Given the description of an element on the screen output the (x, y) to click on. 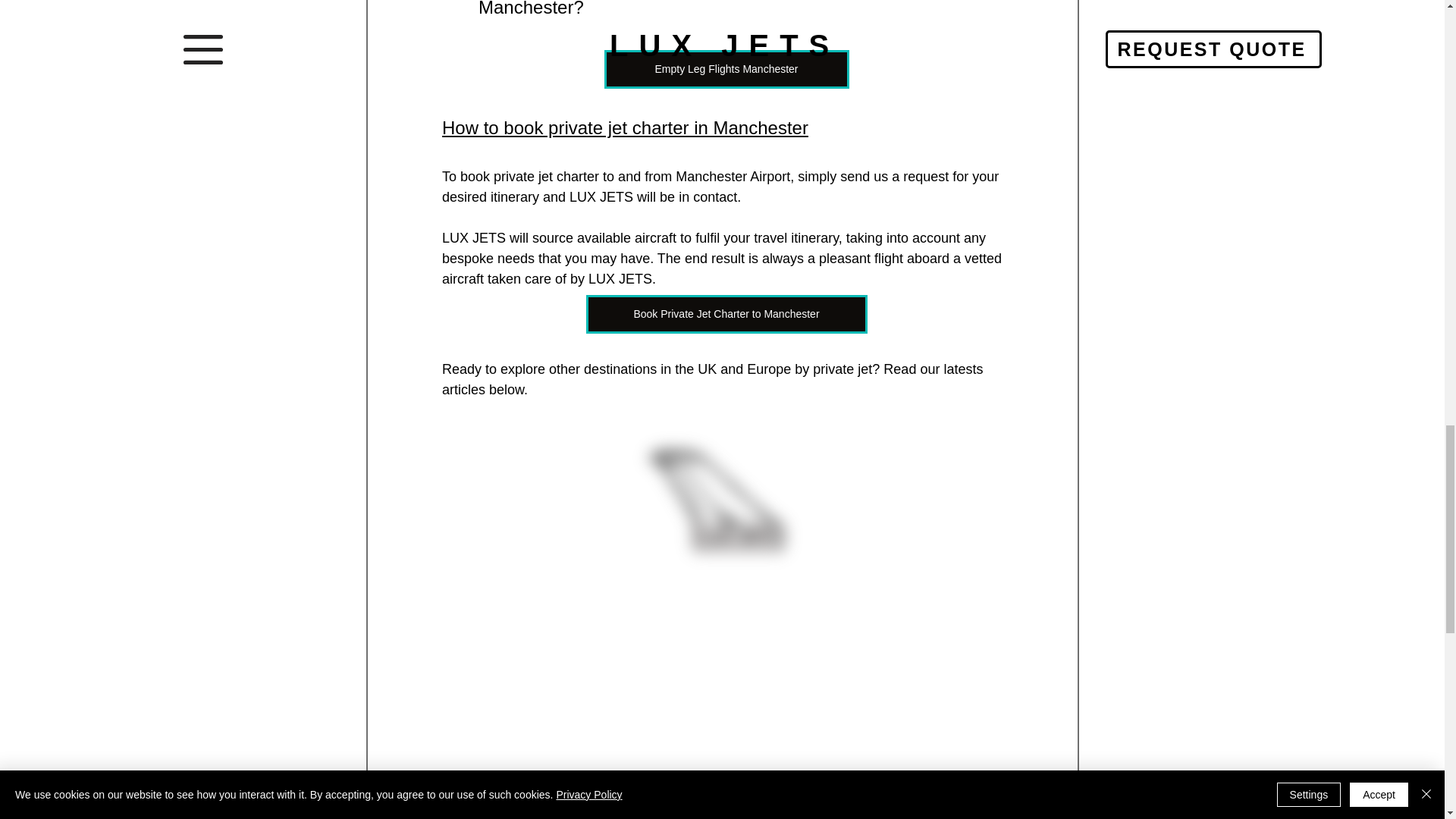
Book Private Jet Charter to Manchester (725, 313)
Empty Leg Flights Manchester (726, 68)
